Given the description of an element on the screen output the (x, y) to click on. 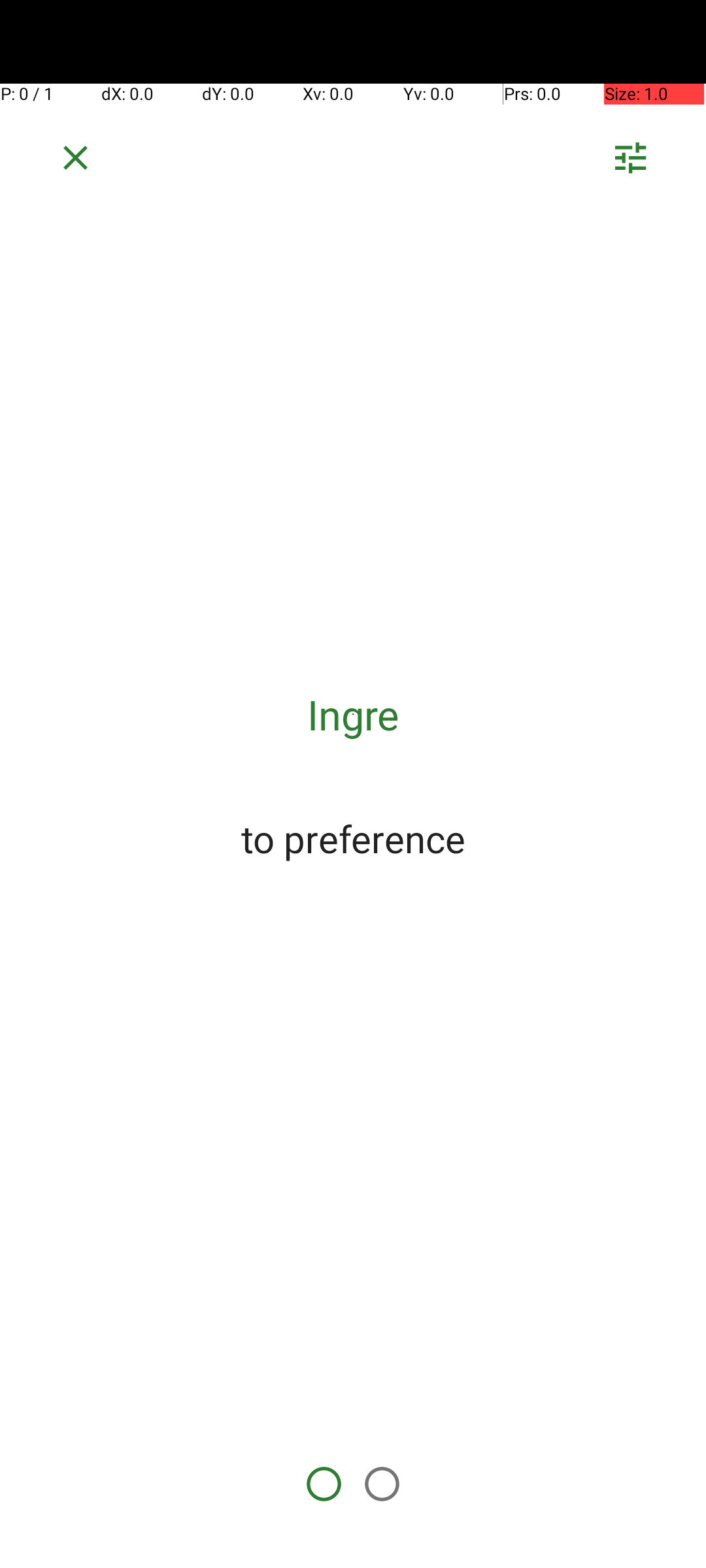
to preference Element type: android.widget.TextView (353, 838)
